Given the description of an element on the screen output the (x, y) to click on. 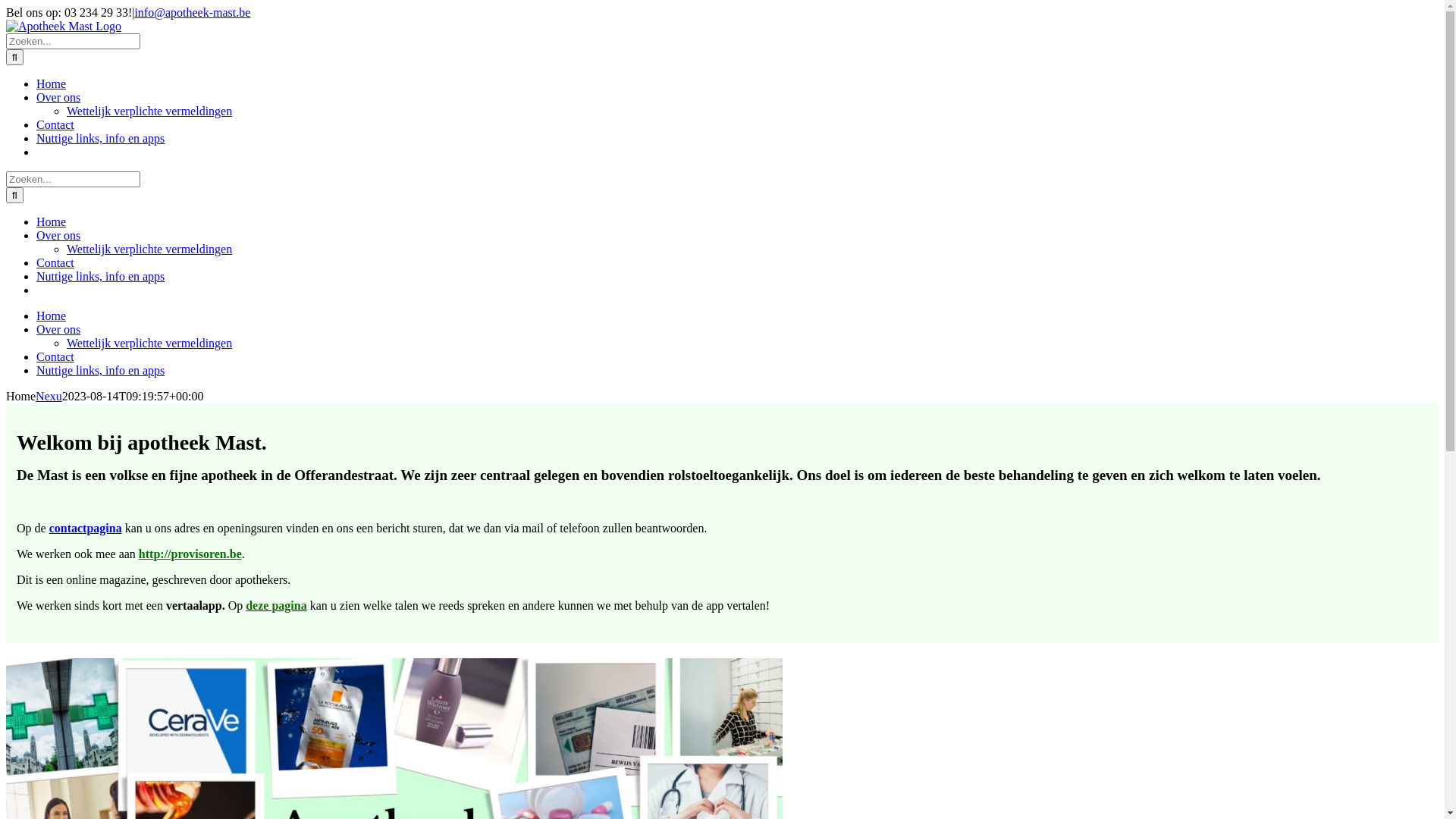
Contact Element type: text (55, 356)
Wettelijk verplichte vermeldingen Element type: text (149, 110)
info@apotheek-mast.be Element type: text (192, 12)
deze pagina Element type: text (275, 605)
contactpagina Element type: text (85, 527)
Wettelijk verplichte vermeldingen Element type: text (149, 248)
Ga naar inhoud Element type: text (5, 5)
Nuttige links, info en apps Element type: text (100, 137)
Contact Element type: text (55, 262)
http://provisoren.be Element type: text (189, 553)
Nuttige links, info en apps Element type: text (100, 275)
Nuttige links, info en apps Element type: text (100, 370)
Over ons Element type: text (58, 329)
Home Element type: text (50, 83)
Home Element type: text (50, 315)
Over ons Element type: text (58, 235)
Nexu Element type: text (48, 395)
Contact Element type: text (55, 124)
Home Element type: text (50, 221)
Over ons Element type: text (58, 97)
Wettelijk verplichte vermeldingen Element type: text (149, 342)
